Given the description of an element on the screen output the (x, y) to click on. 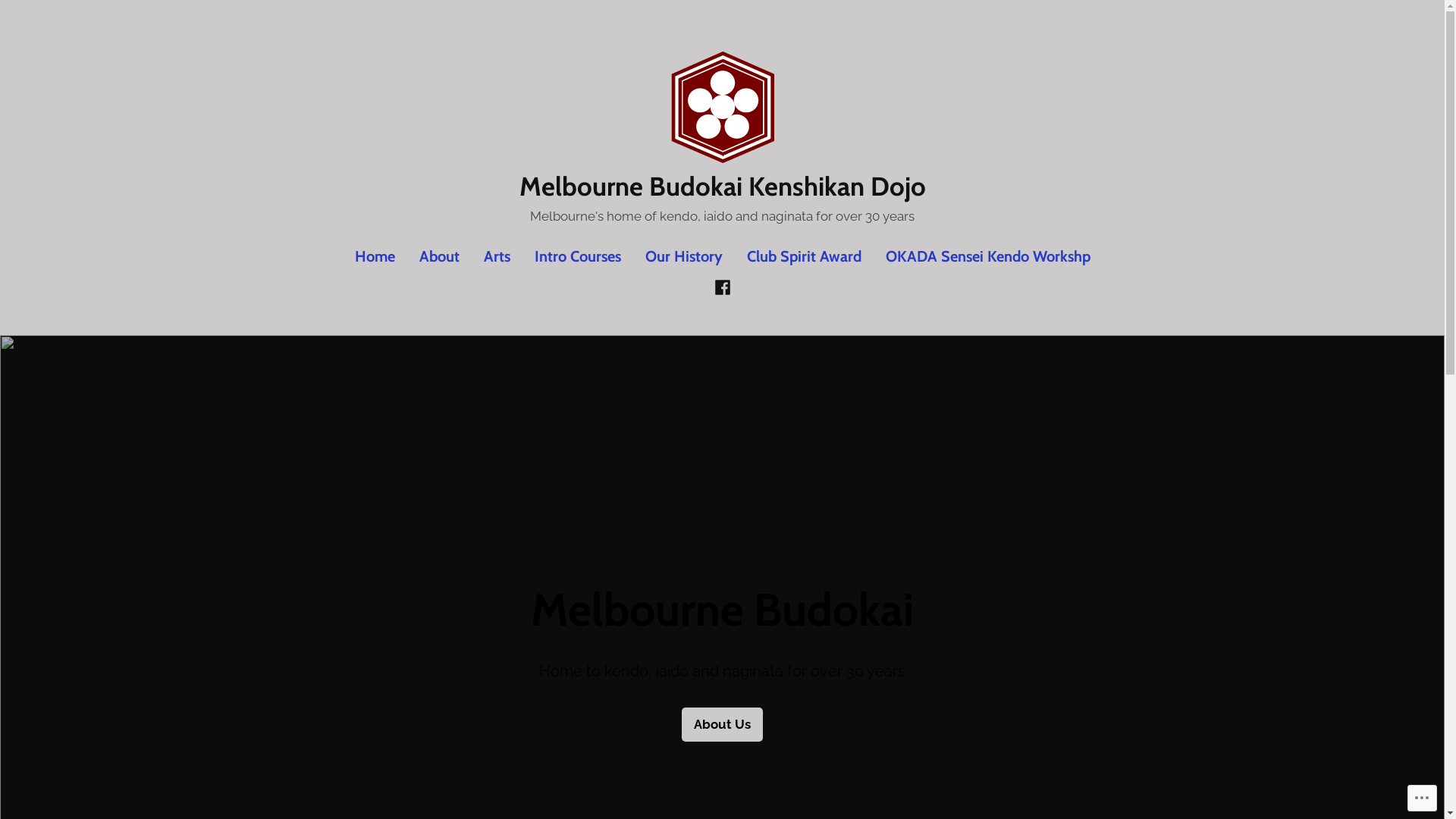
Home Element type: text (380, 255)
Our History Element type: text (683, 255)
Intro Courses Element type: text (576, 255)
About Us Element type: text (721, 724)
OKADA Sensei Kendo Workshp Element type: text (981, 255)
Arts Element type: text (496, 255)
Melbourne Budokai Kenshikan Dojo Element type: text (721, 186)
About Element type: text (438, 255)
Club Spirit Award Element type: text (803, 255)
